Given the description of an element on the screen output the (x, y) to click on. 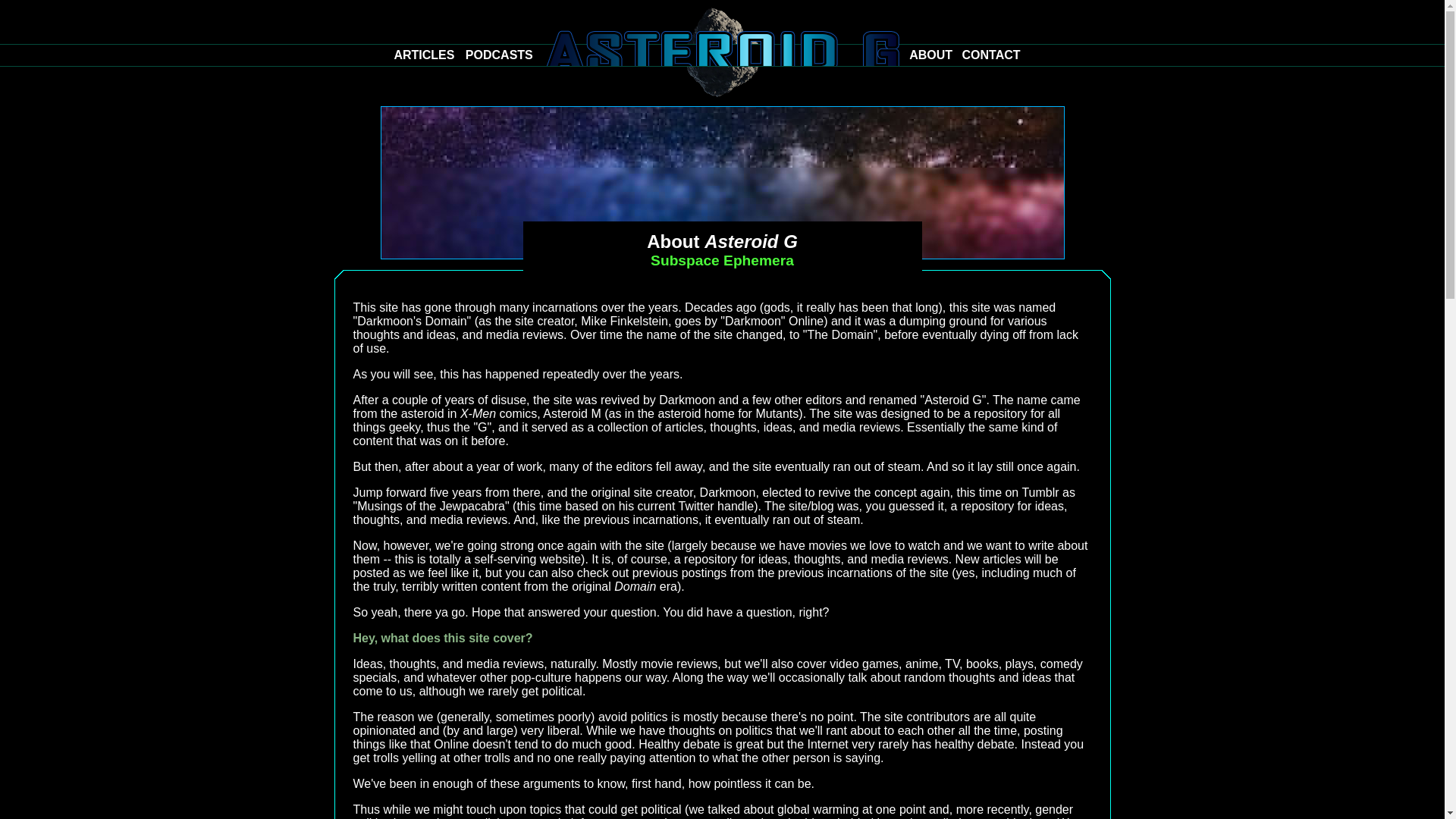
PODCASTS (498, 54)
CONTACT (991, 54)
ABOUT (930, 54)
Contact (991, 55)
ARTICLES (423, 54)
About (930, 55)
Achive (423, 55)
Podcasts (498, 55)
Donate on Patreon (458, 79)
